Given the description of an element on the screen output the (x, y) to click on. 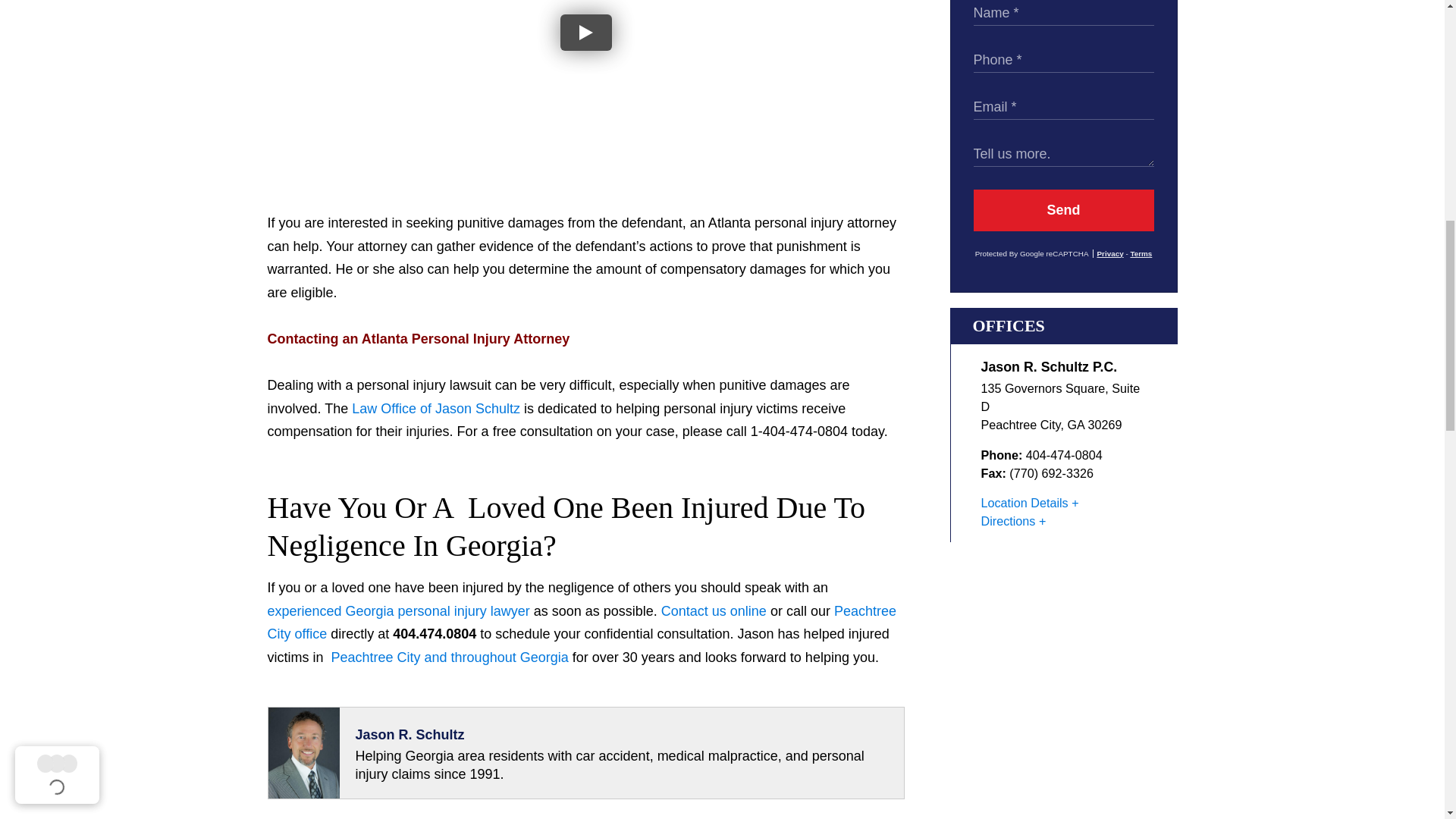
Peachtree City office (581, 622)
Location Details (1029, 502)
Peachtree City and throughout Georgia (450, 657)
Privacy (1109, 252)
Jason R. Schultz (409, 734)
Terms (1140, 252)
experienced Georgia personal injury lawyer (397, 611)
Contact us online (714, 611)
Law Office of Jason Schultz (435, 408)
Directions (1013, 520)
